Given the description of an element on the screen output the (x, y) to click on. 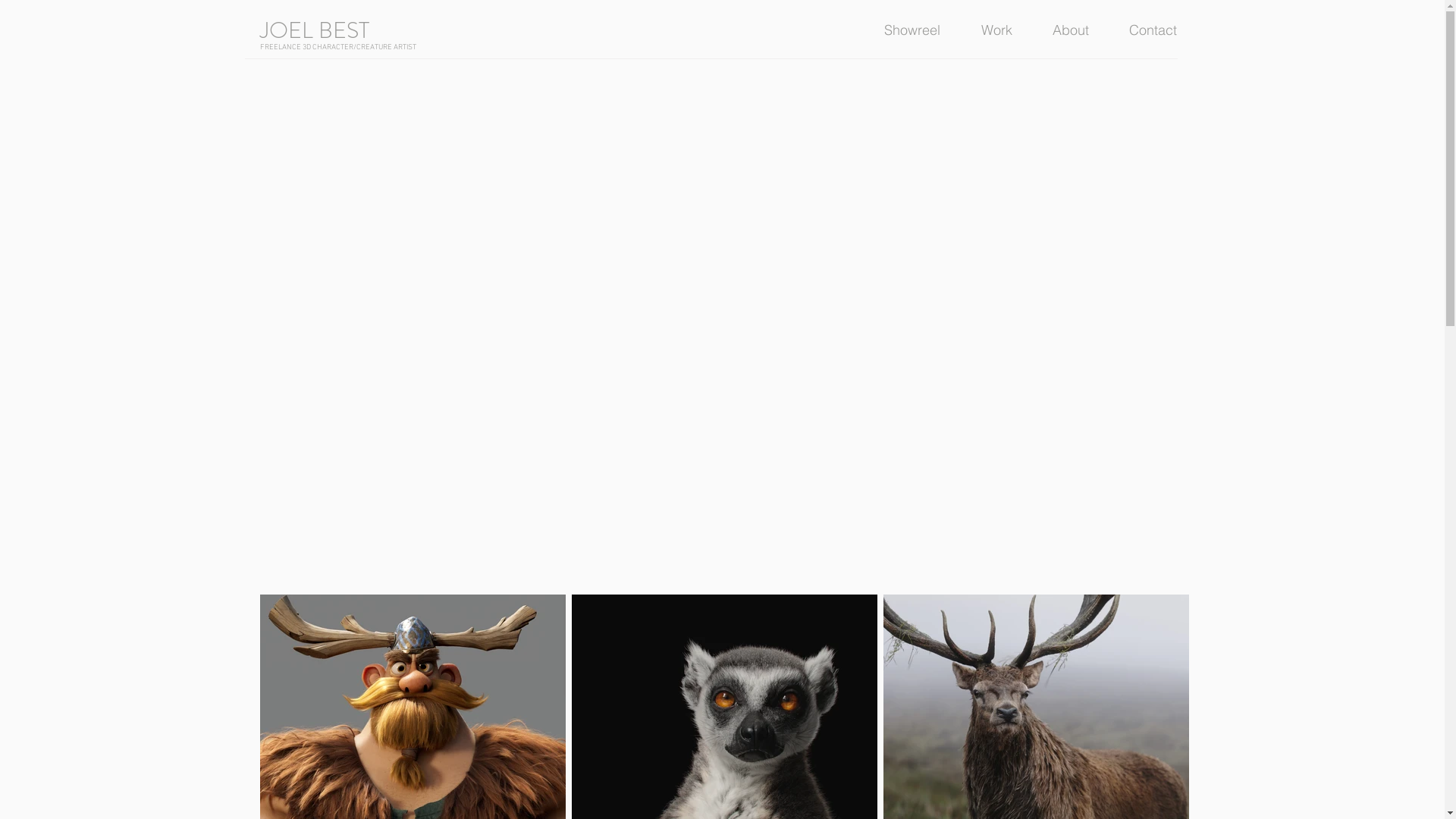
Work Element type: text (1004, 30)
JOEL BEST Element type: text (313, 30)
About Element type: text (1078, 30)
Contact Element type: text (1161, 30)
Showreel Element type: text (920, 30)
